Given the description of an element on the screen output the (x, y) to click on. 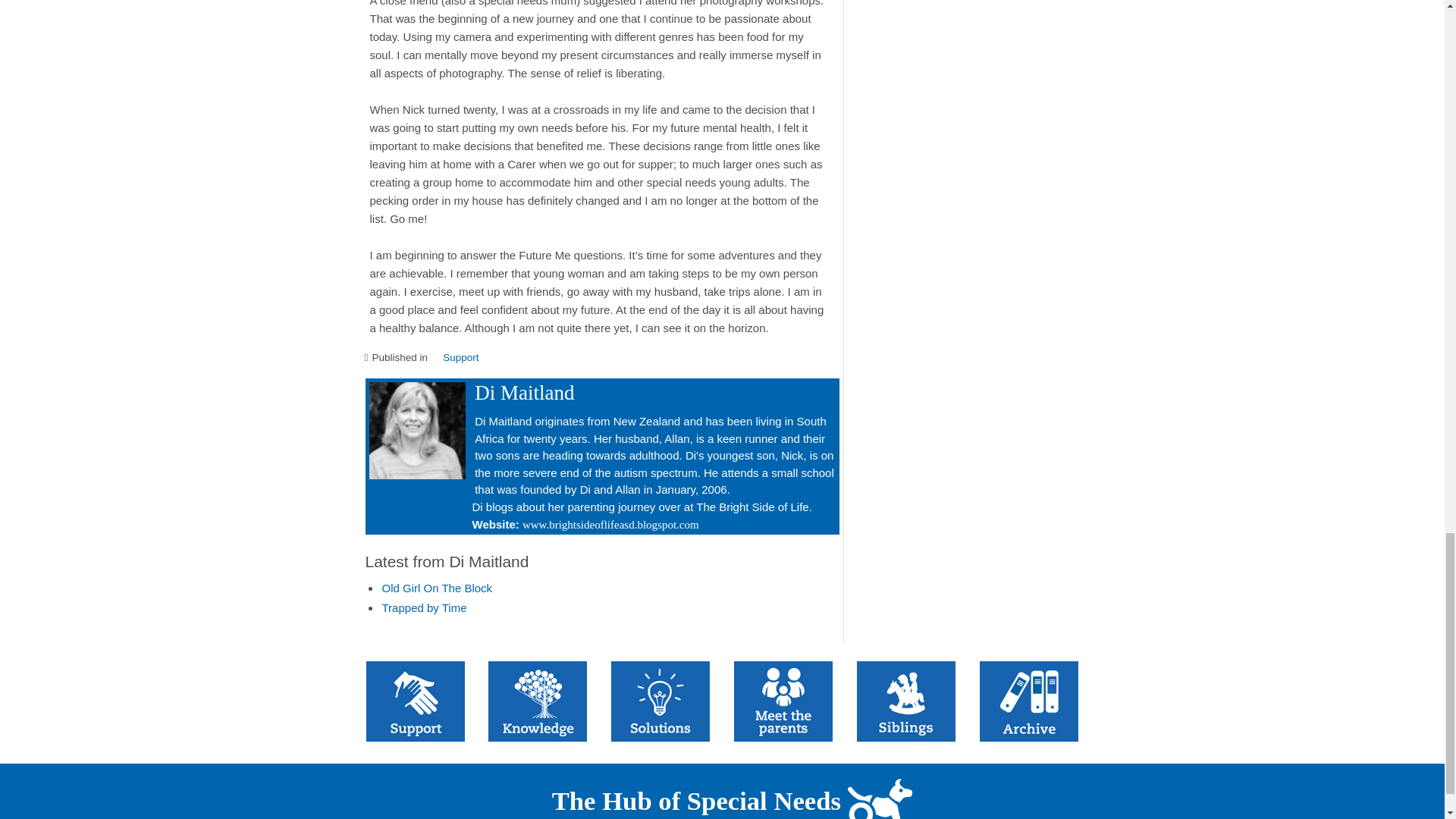
Old Girl On The Block (437, 587)
Di Maitland (523, 392)
www.brightsideoflifeasd.blogspot.com (610, 524)
Trapped by Time (424, 607)
Support (460, 357)
